Given the description of an element on the screen output the (x, y) to click on. 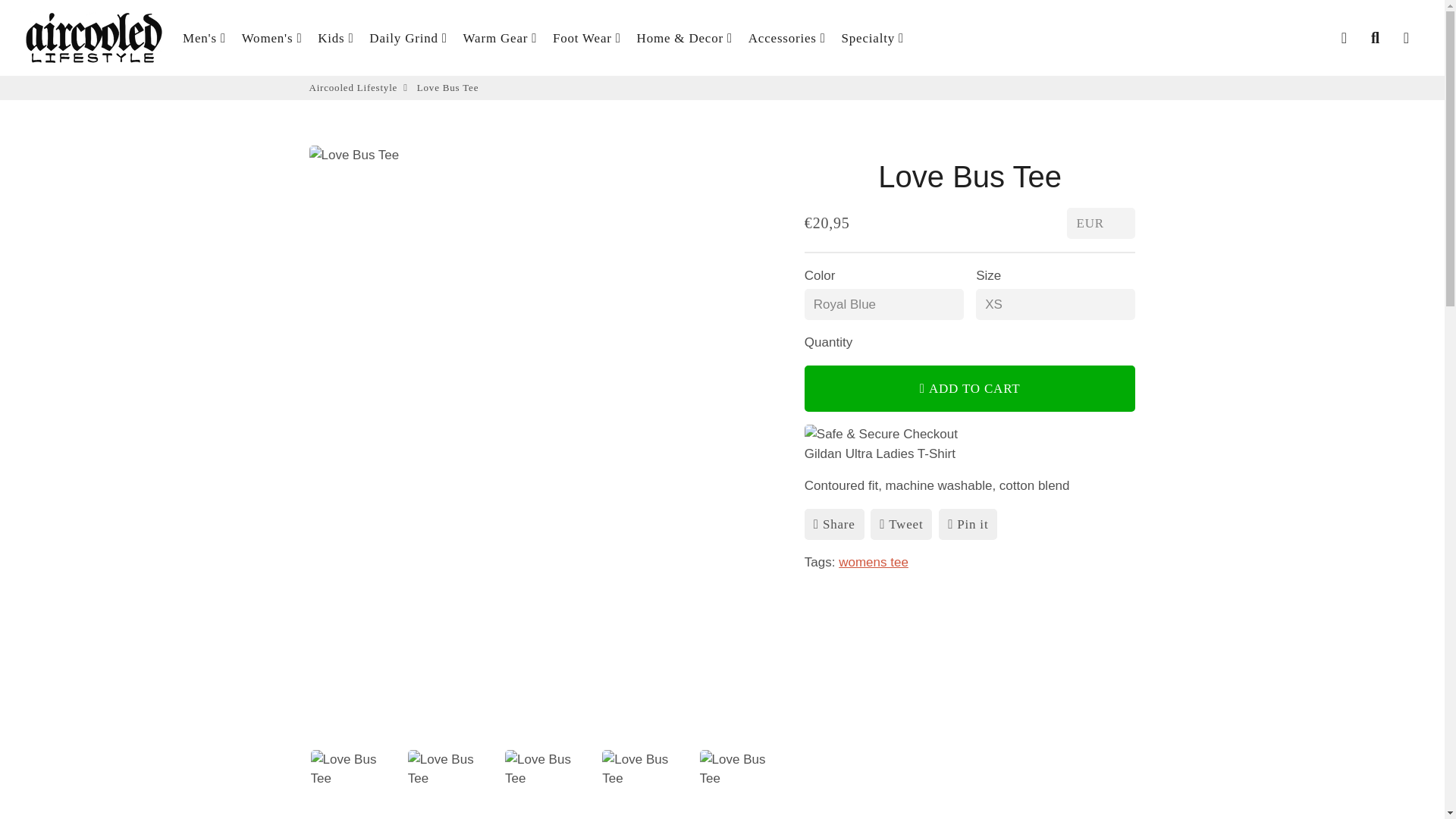
Tweet on Twitter (900, 523)
Share on Facebook (834, 523)
Pin on Pinterest (968, 523)
